Given the description of an element on the screen output the (x, y) to click on. 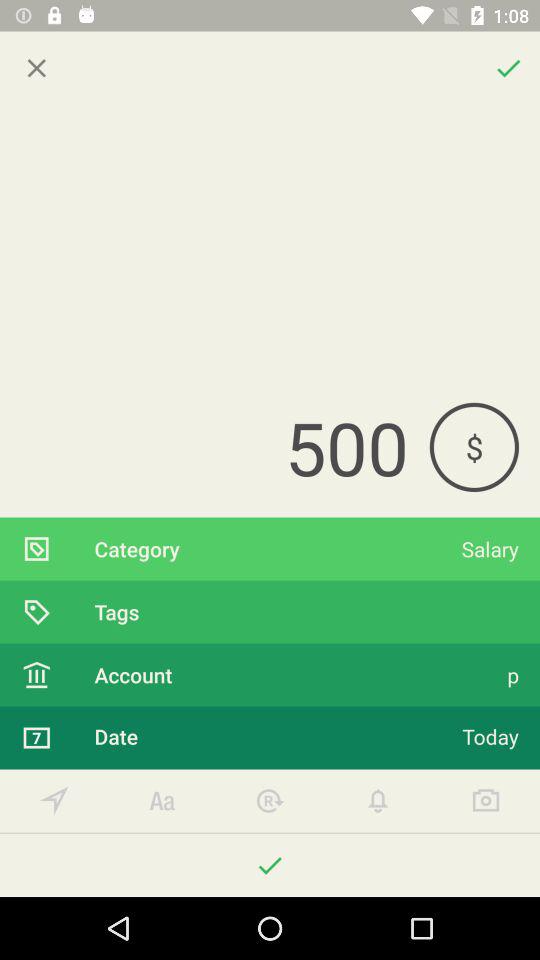
choose item above salary (474, 446)
